Given the description of an element on the screen output the (x, y) to click on. 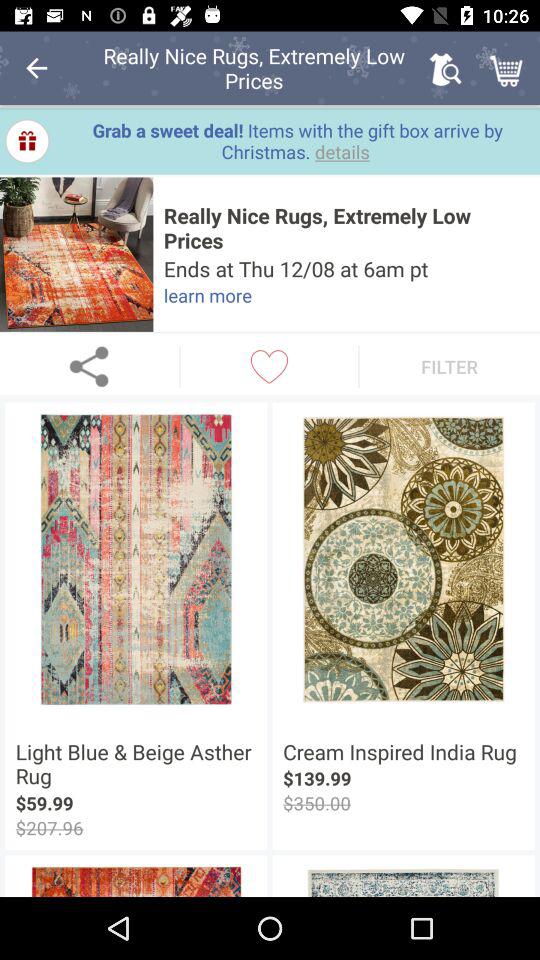
turn off the item above grab a sweet icon (508, 67)
